Given the description of an element on the screen output the (x, y) to click on. 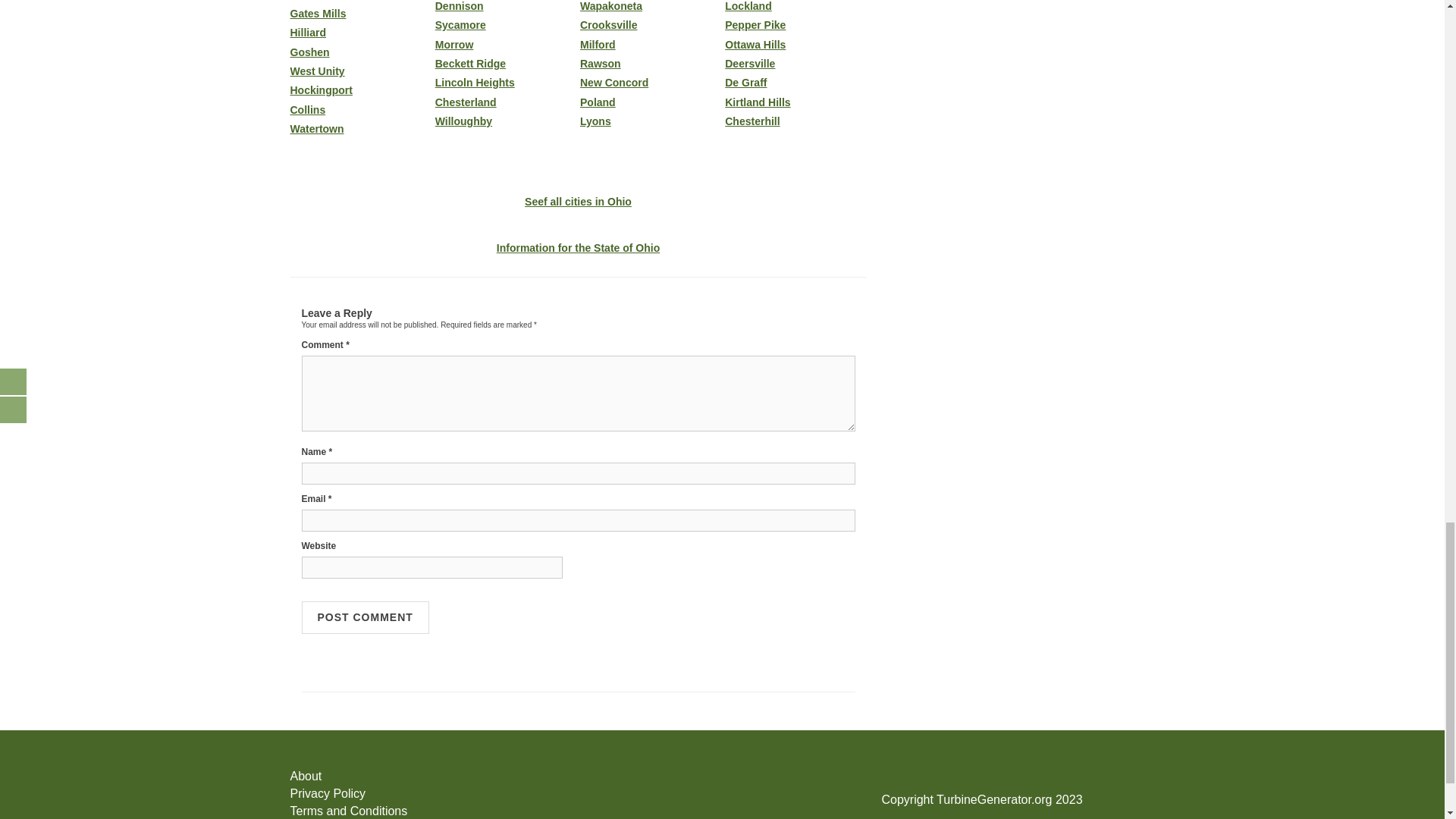
Gates Mills (359, 13)
Chesterland (505, 102)
Wapakoneta (649, 6)
Watertown (359, 129)
Goshen (359, 52)
Morrow (505, 44)
Post Comment (365, 617)
Sycamore (505, 25)
Milford (649, 44)
Beckett Ridge (505, 63)
Lincoln Heights (505, 82)
Hilliard (359, 32)
Collins (359, 110)
Dennison (505, 6)
Hockingport (359, 90)
